Given the description of an element on the screen output the (x, y) to click on. 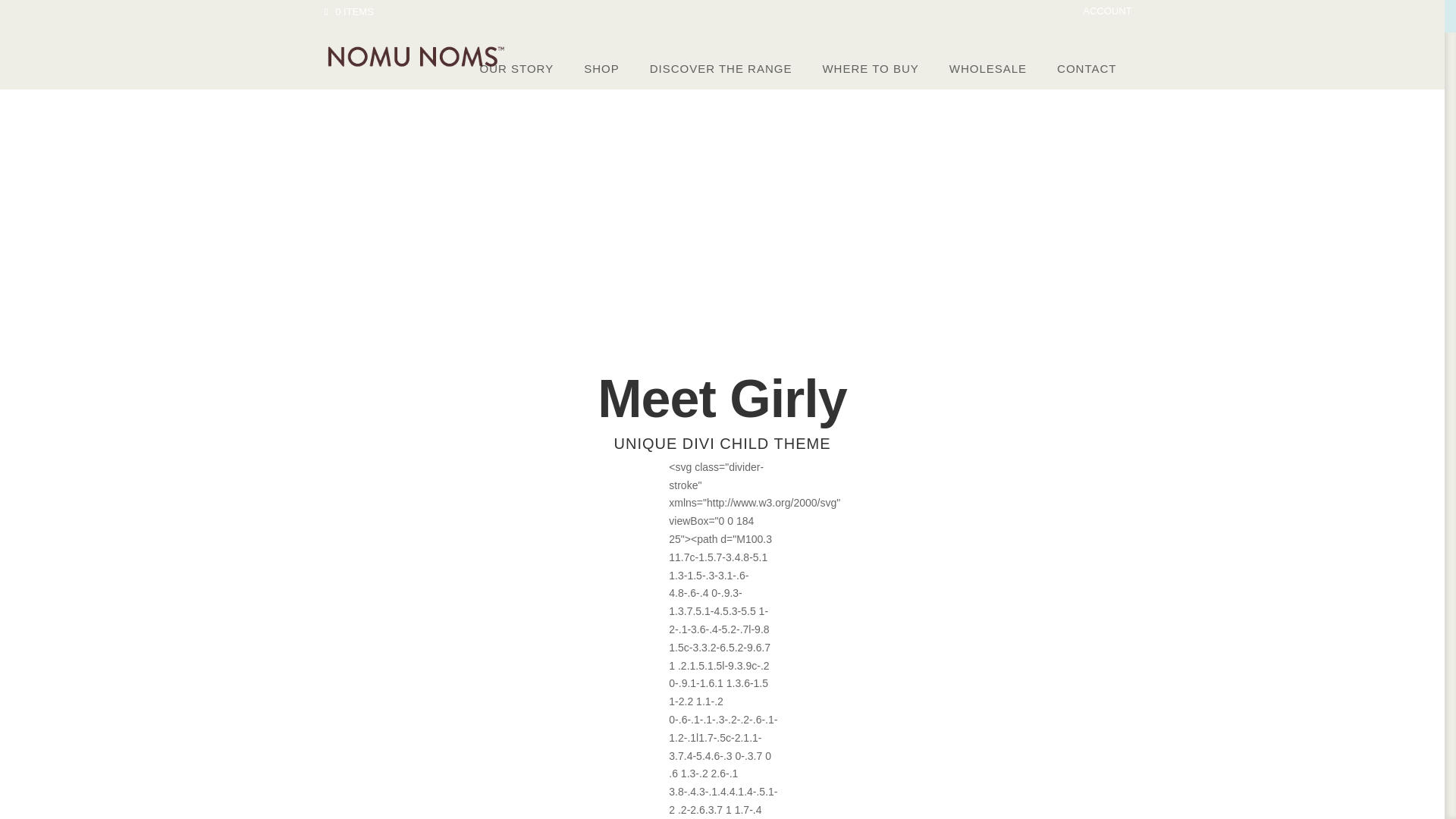
CONTACT (1086, 68)
SHOP (601, 68)
0 ITEMS (349, 11)
OUR STORY (516, 68)
ACCOUNT (1107, 14)
WHERE TO BUY (869, 68)
WHOLESALE (988, 68)
DISCOVER THE RANGE (721, 68)
